Given the description of an element on the screen output the (x, y) to click on. 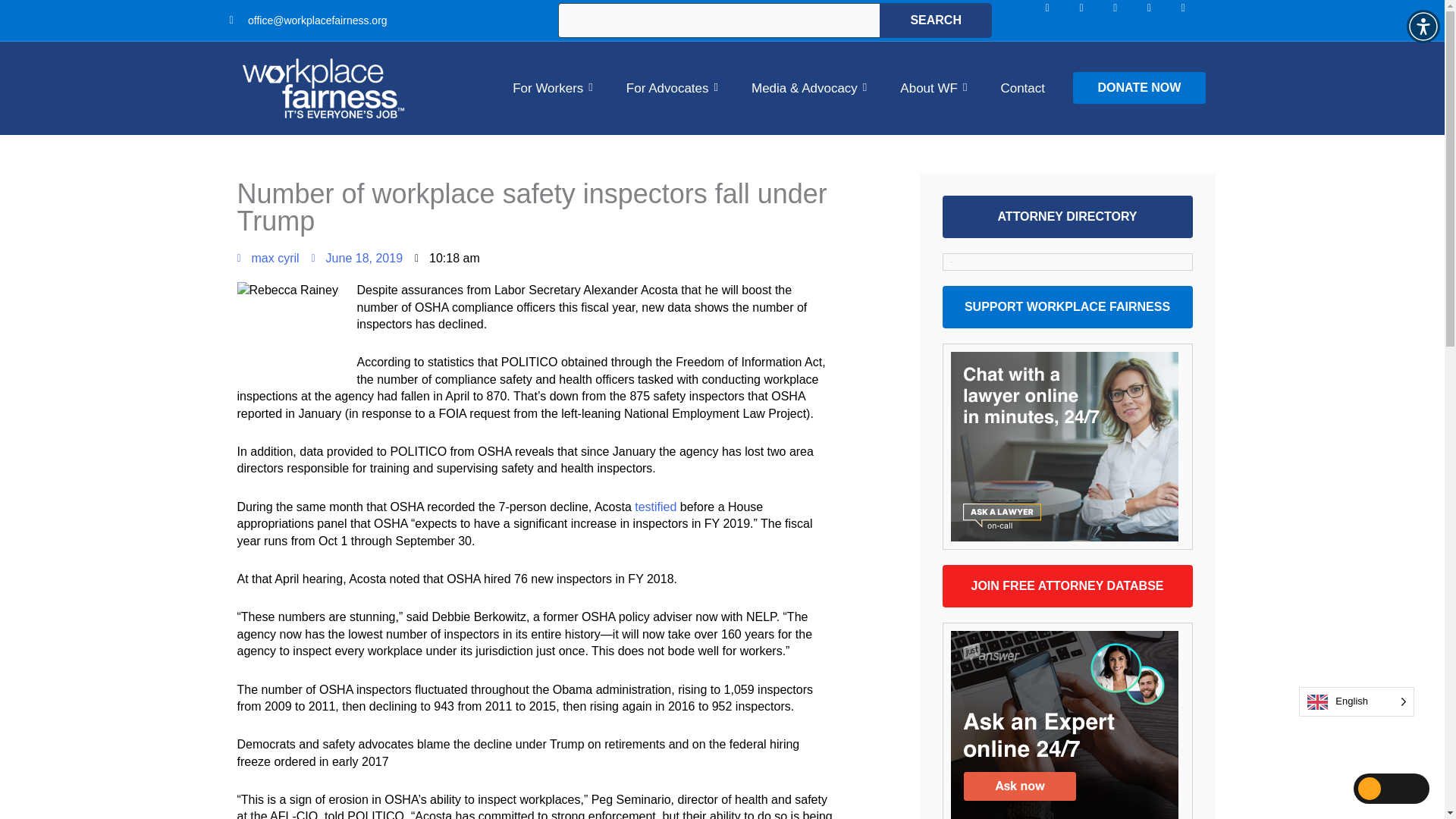
Search (935, 20)
Search (935, 20)
Search (935, 20)
For Workers (552, 88)
Linkedin (1126, 19)
Twitter (1160, 19)
Facebook-f (1058, 19)
Accessibility Menu (1422, 26)
Youtube (1194, 19)
Instagram (1092, 19)
